Given the description of an element on the screen output the (x, y) to click on. 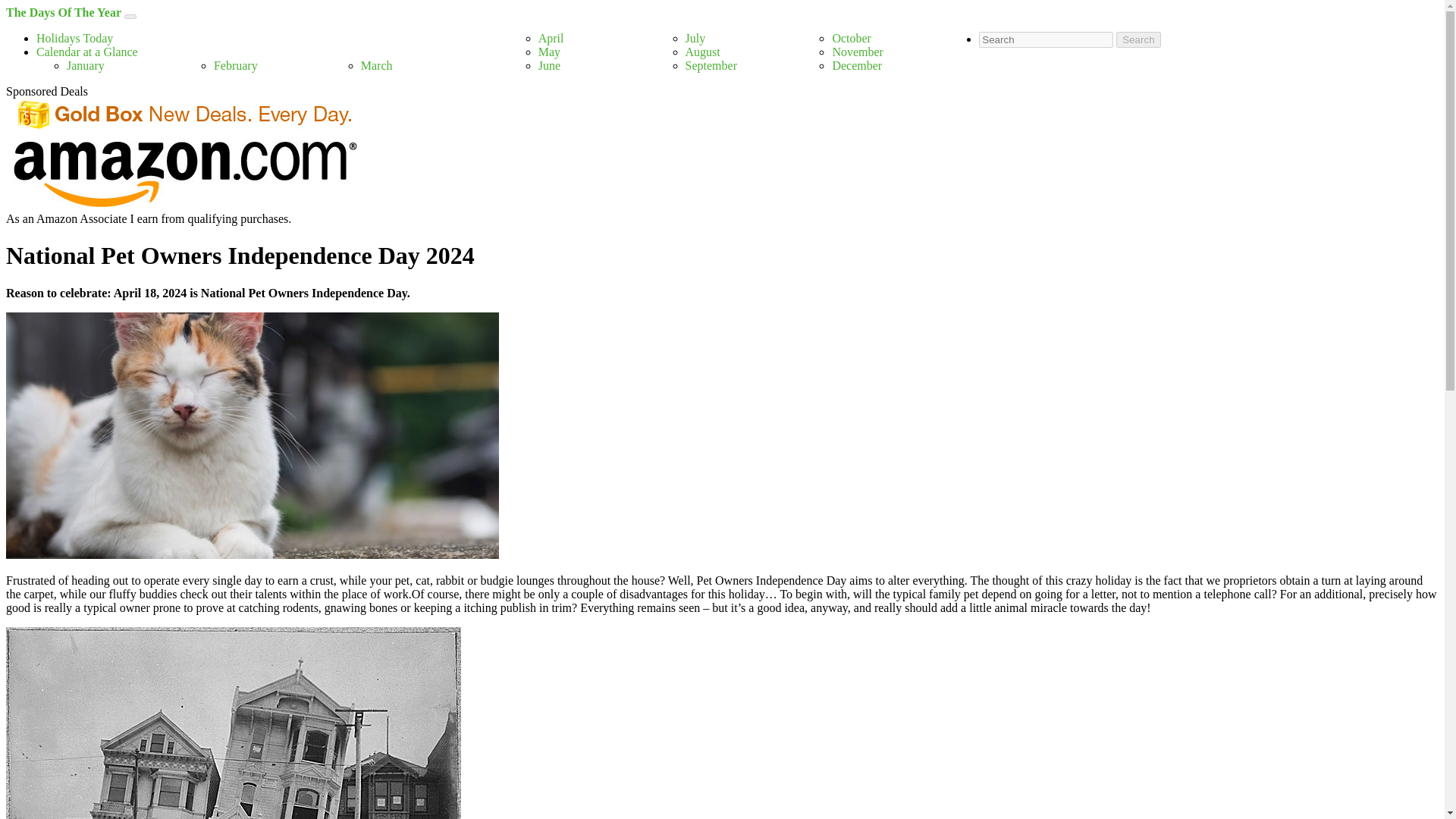
June (549, 65)
November (857, 51)
April (551, 38)
December (856, 65)
January (85, 65)
May (549, 51)
Calendar at a Glance (87, 51)
February (235, 65)
Search (1138, 39)
The Days Of The Year (62, 11)
